Given the description of an element on the screen output the (x, y) to click on. 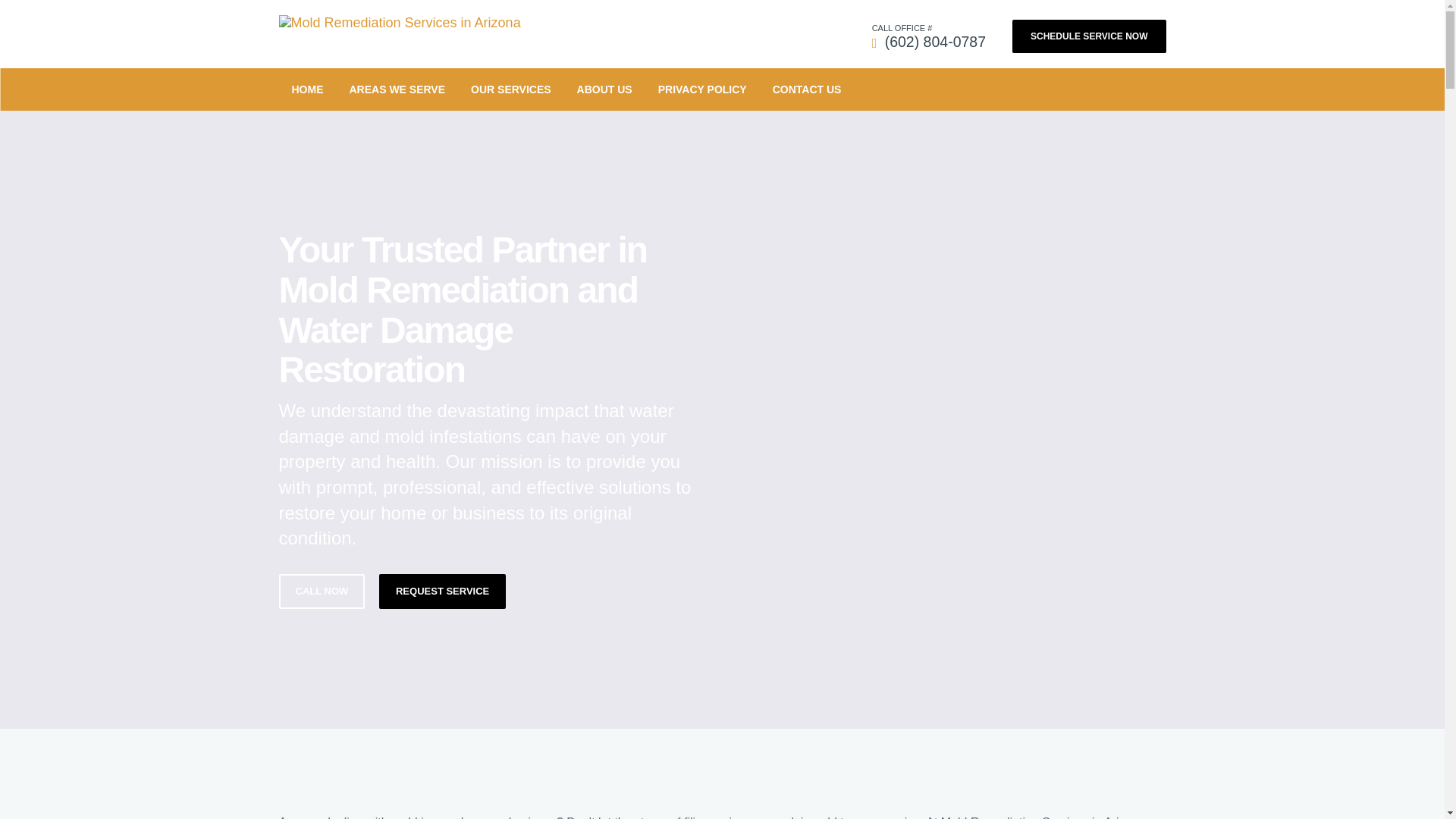
AREAS WE SERVE (397, 88)
SCHEDULE SERVICE NOW (1088, 36)
HOME (307, 88)
